Given the description of an element on the screen output the (x, y) to click on. 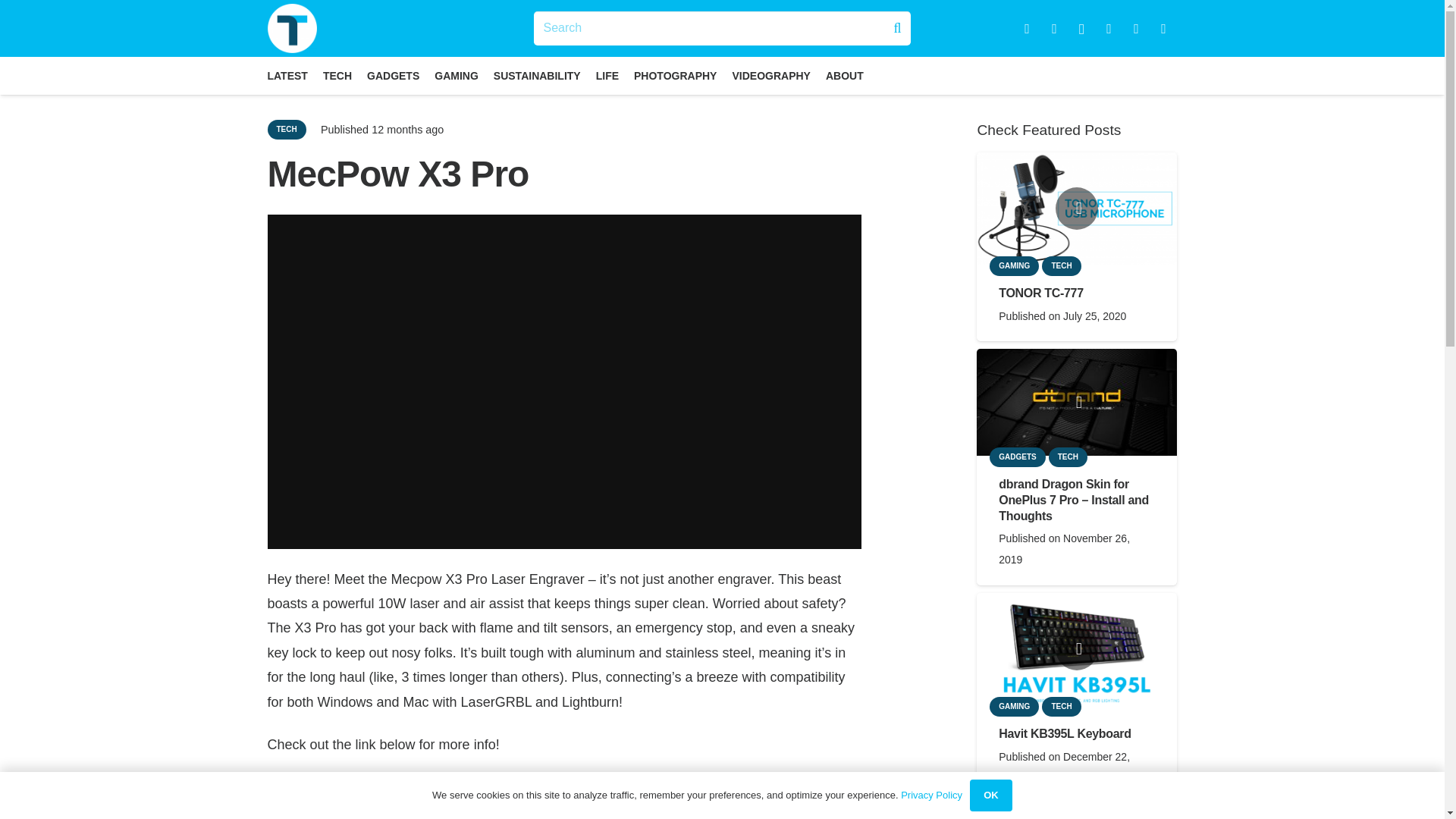
YouTube (1109, 28)
PHOTOGRAPHY (674, 75)
TECH (337, 75)
Twitter (1054, 28)
LIFE (607, 75)
Instagram (1082, 28)
Facebook (1027, 28)
SUSTAINABILITY (537, 75)
TECH (285, 129)
VIDEOGRAPHY (769, 75)
